Given the description of an element on the screen output the (x, y) to click on. 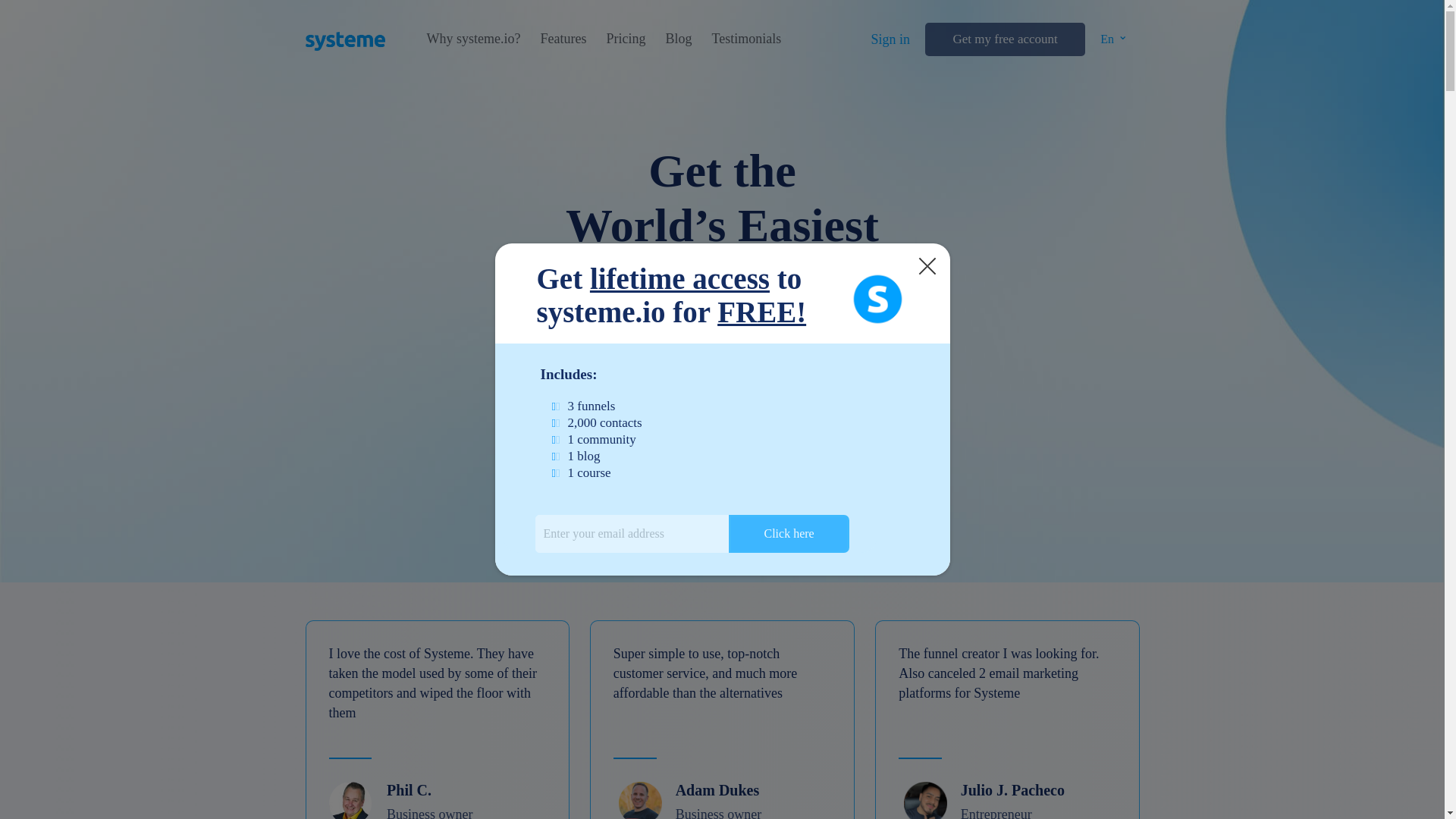
Why systeme.io? (472, 38)
Blog (678, 38)
Testimonials (745, 38)
Pricing (625, 38)
Features (563, 38)
Get my free account (1004, 39)
Sign in (890, 39)
